Given the description of an element on the screen output the (x, y) to click on. 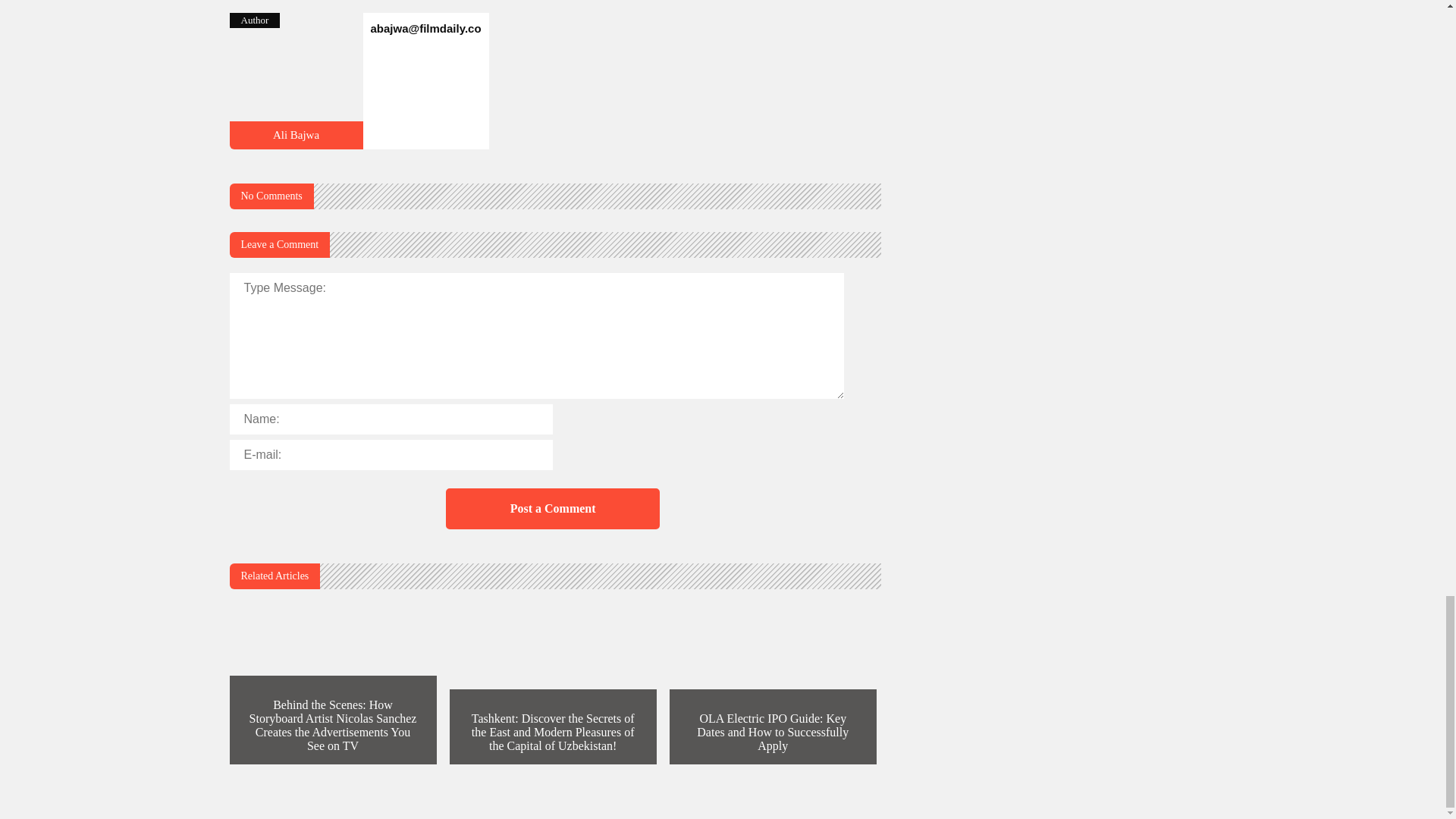
10 Essential Reasons Why Your Dog Needs Pet Insurance (295, 142)
10 Essential Reasons Why Your Dog Needs Pet Insurance (295, 134)
Post a Comment (552, 508)
